Given the description of an element on the screen output the (x, y) to click on. 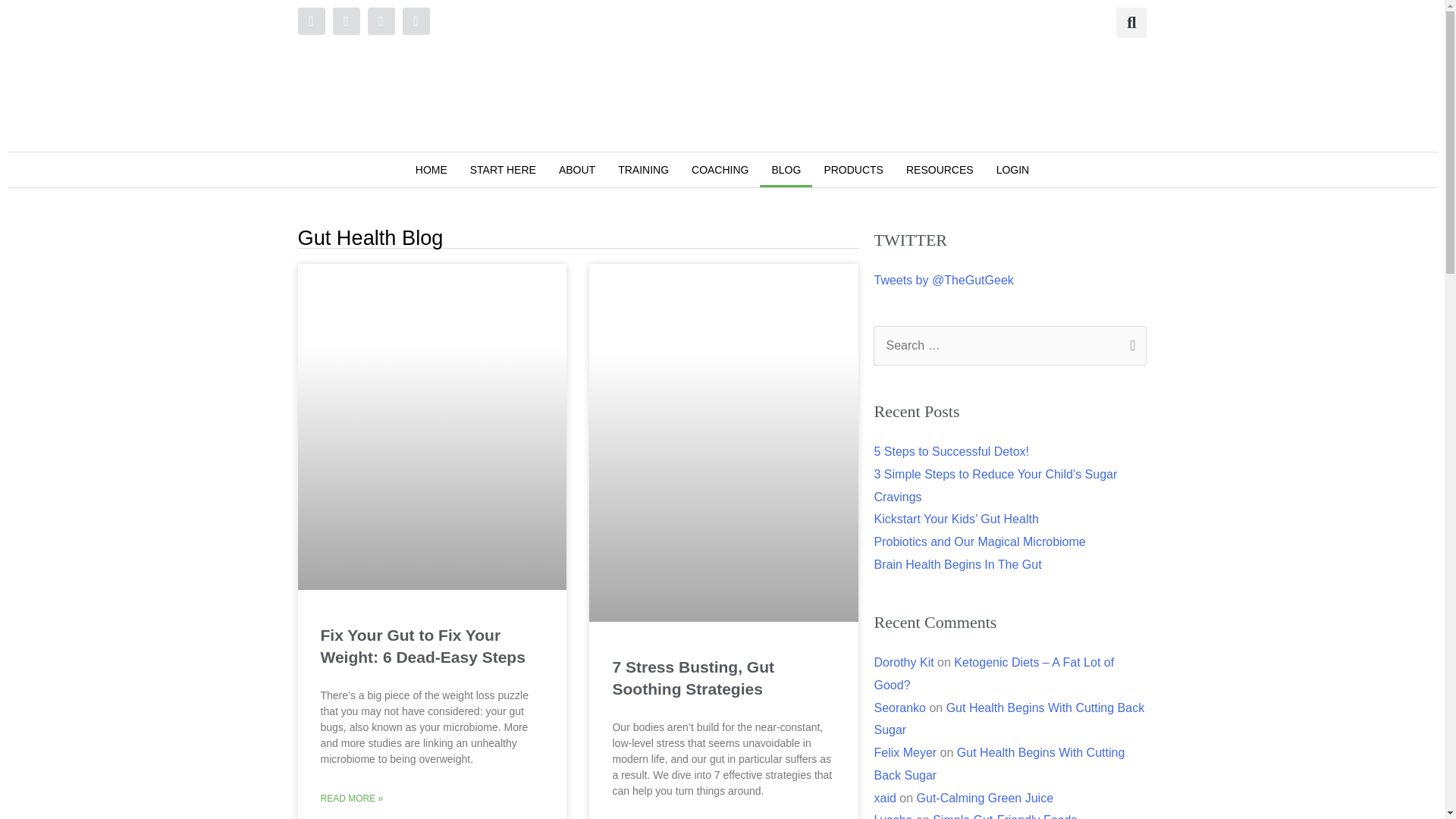
HOME (431, 169)
LOGIN (1013, 169)
ABOUT (577, 169)
BLOG (786, 169)
START HERE (502, 169)
TRAINING (643, 169)
PRODUCTS (853, 169)
RESOURCES (940, 169)
COACHING (719, 169)
